Given the description of an element on the screen output the (x, y) to click on. 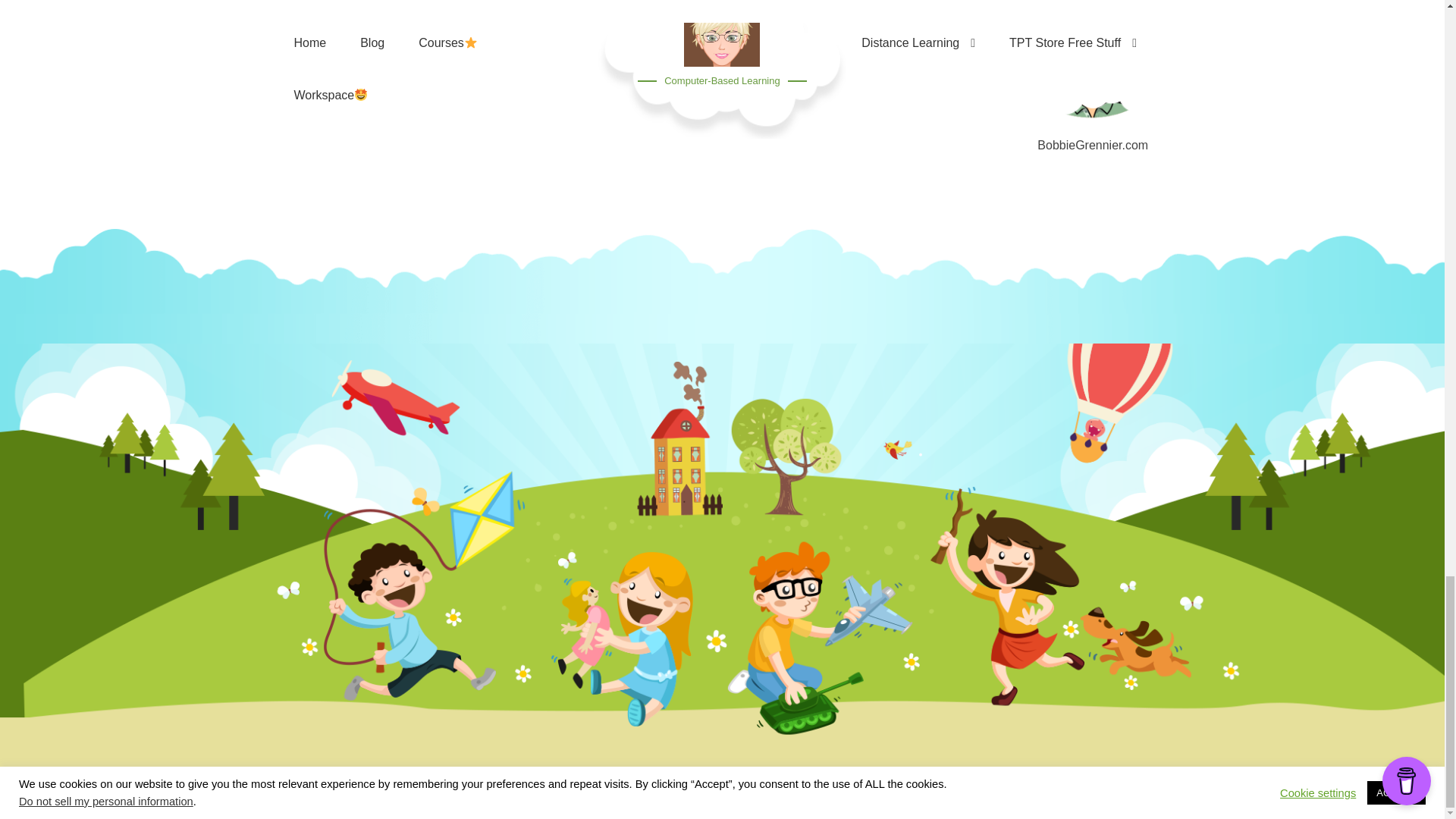
Bobbie Grennier (1093, 63)
